Given the description of an element on the screen output the (x, y) to click on. 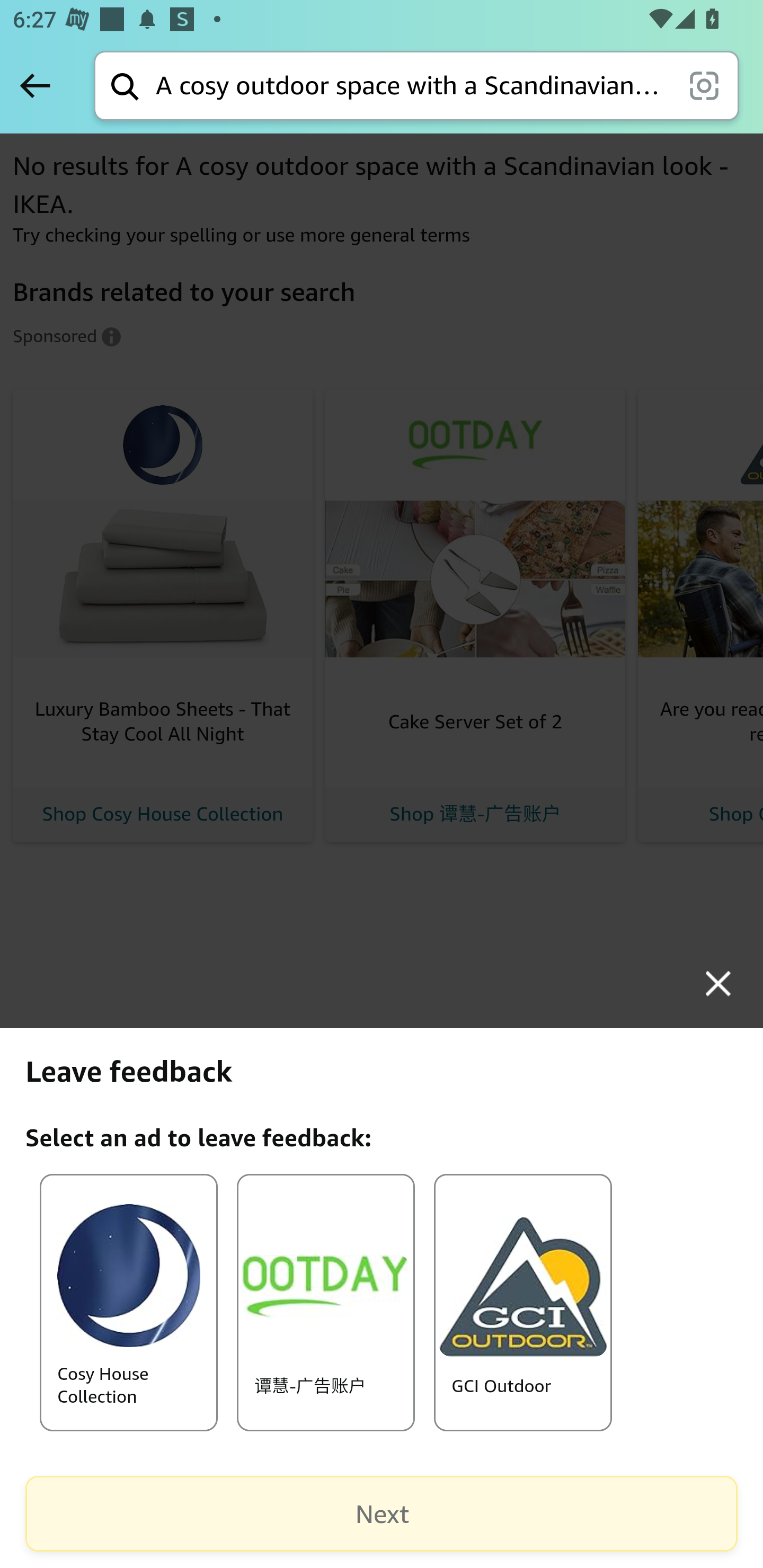
Back (35, 85)
scan it (704, 85)
close (717, 982)
Cosy House Collection (128, 1302)
谭慧-广告账户 (325, 1302)
GCI Outdoor (522, 1302)
Next (381, 1513)
